Given the description of an element on the screen output the (x, y) to click on. 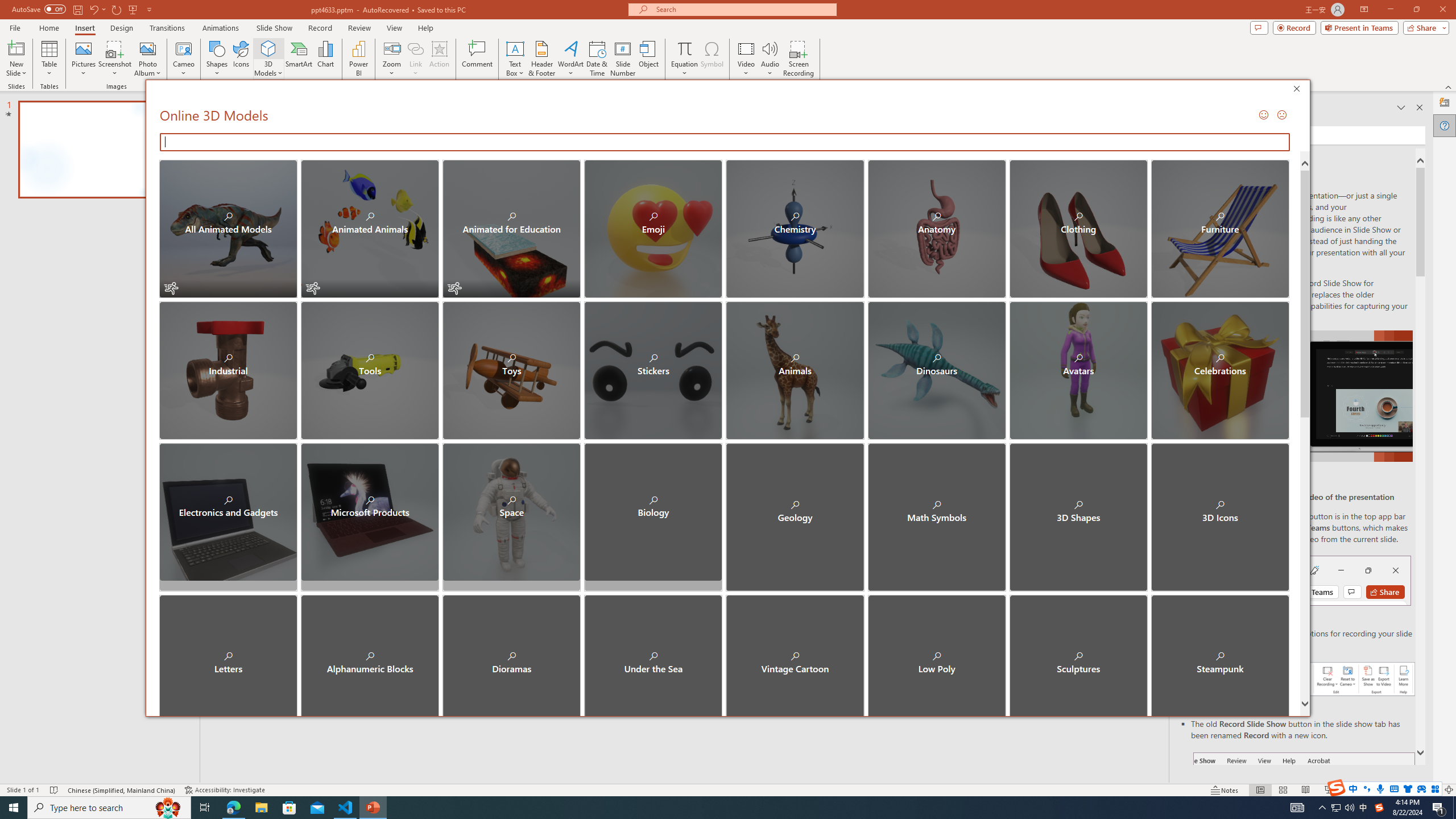
Avatars (1078, 370)
Equation (683, 48)
Link (415, 48)
Draw Horizontal Text Box (515, 48)
Microsoft Products (369, 511)
Clothing (1078, 228)
Power BI (358, 58)
